Given the description of an element on the screen output the (x, y) to click on. 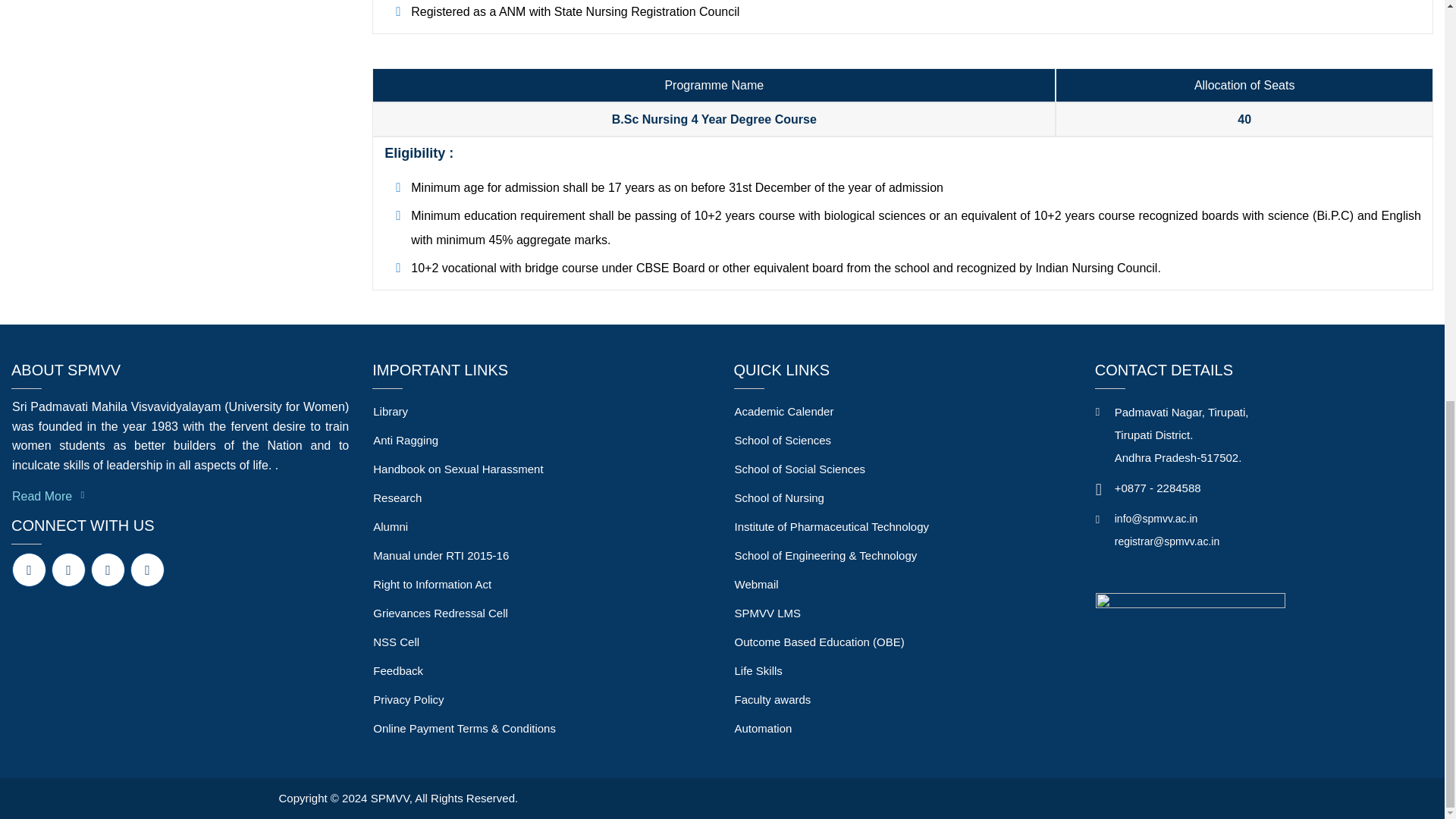
Twitter (67, 569)
instragram (147, 569)
youtube (107, 569)
Facebook (28, 569)
